Given the description of an element on the screen output the (x, y) to click on. 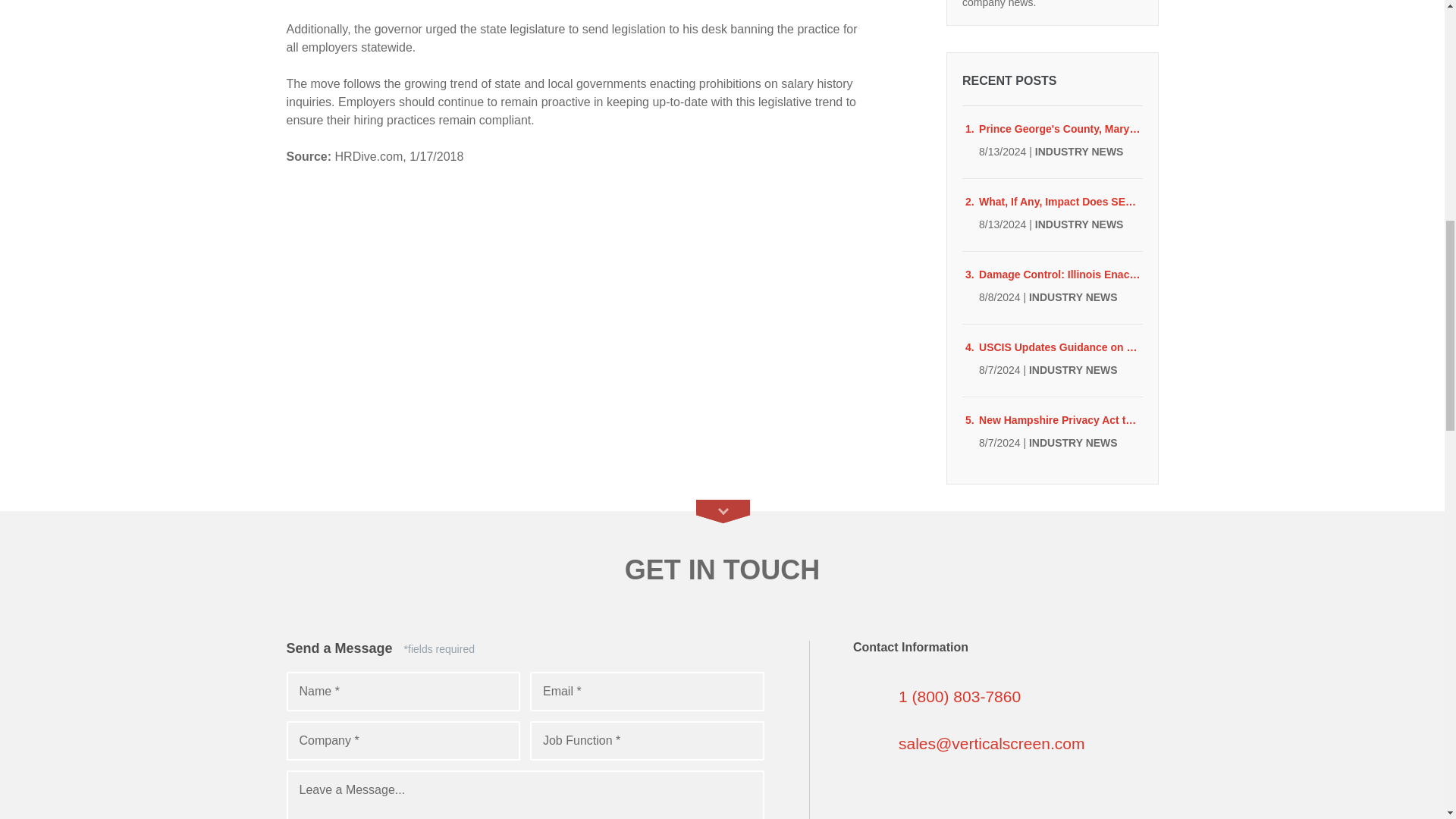
RECENT POSTS (1051, 81)
New Hampshire Privacy Act to Take Effect January 1, 2025 (1059, 419)
